Given the description of an element on the screen output the (x, y) to click on. 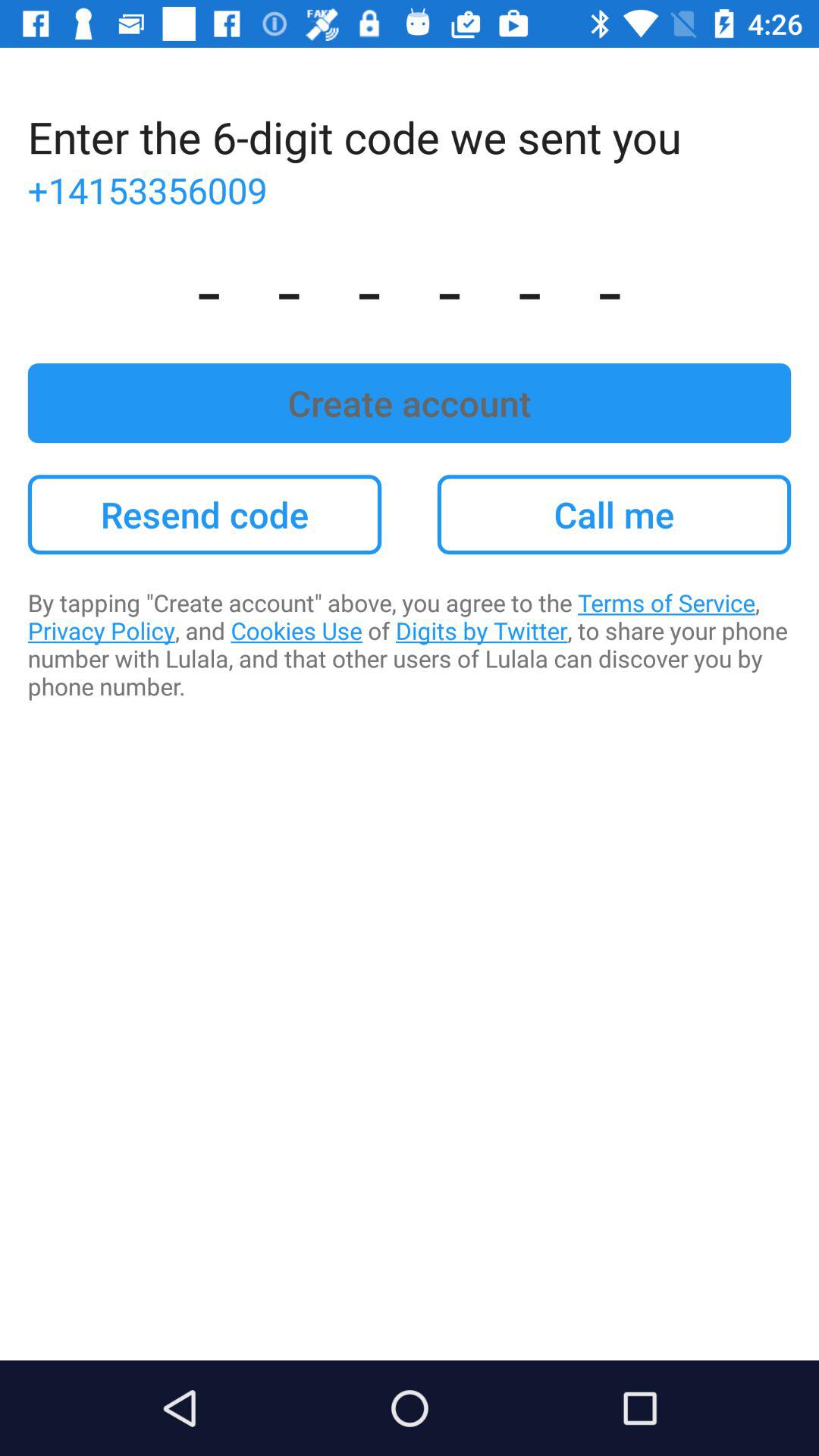
launch item below +14153356009 (409, 288)
